Given the description of an element on the screen output the (x, y) to click on. 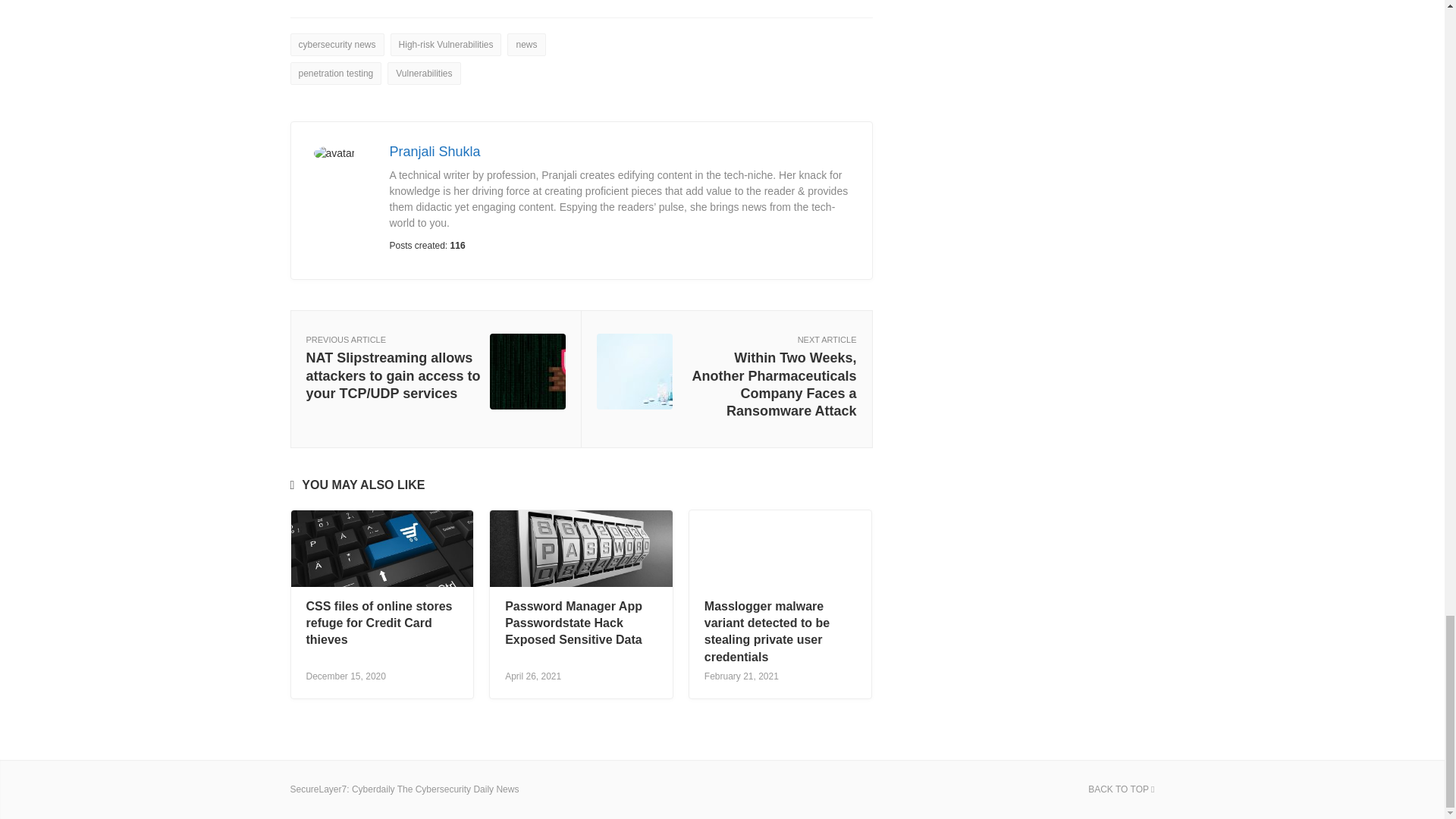
cybersecurity news (336, 44)
BACK TO TOP  (1120, 789)
Pranjali Shukla (435, 151)
penetration testing (335, 73)
Vulnerabilities (423, 73)
High-risk Vulnerabilities (446, 44)
news (525, 44)
